Given the description of an element on the screen output the (x, y) to click on. 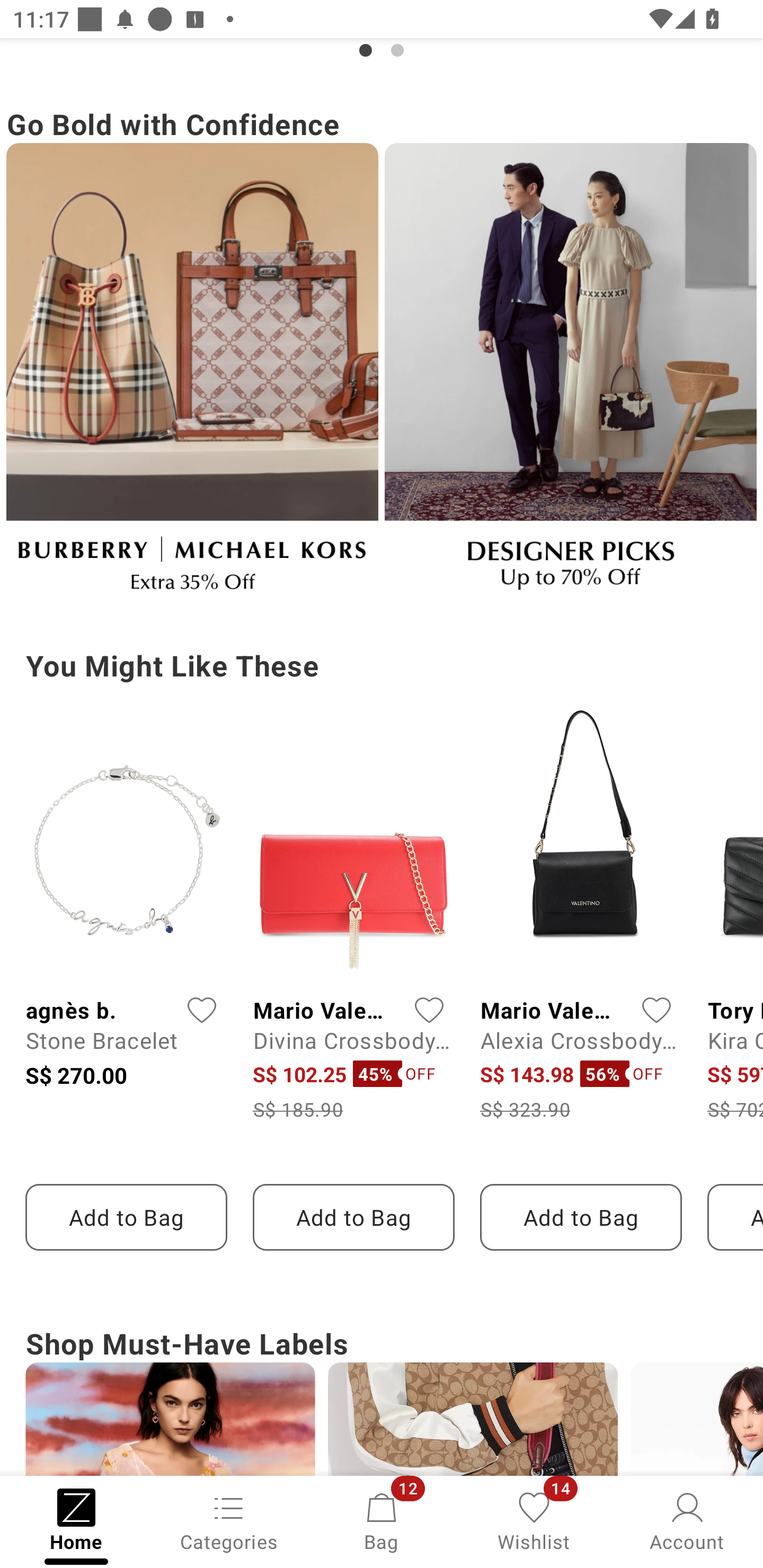
Campaign banner (192, 375)
Campaign banner (570, 375)
Add to Bag (126, 1217)
Add to Bag (353, 1217)
Add to Bag (580, 1217)
Categories (228, 1519)
Bag, 12 new notifications Bag (381, 1519)
Wishlist, 14 new notifications Wishlist (533, 1519)
Account (686, 1519)
